Given the description of an element on the screen output the (x, y) to click on. 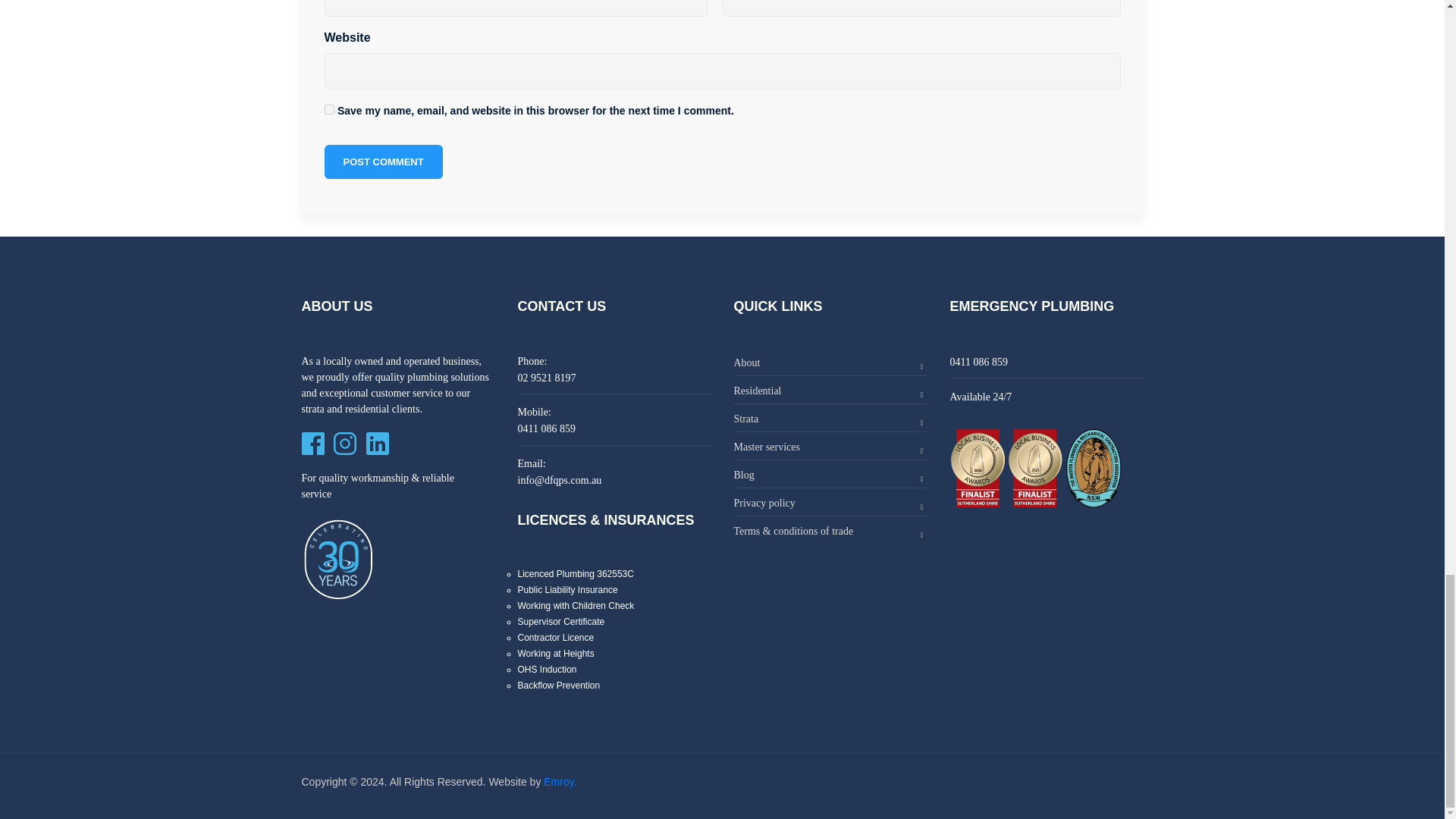
yes (329, 109)
Post Comment (383, 161)
